Given the description of an element on the screen output the (x, y) to click on. 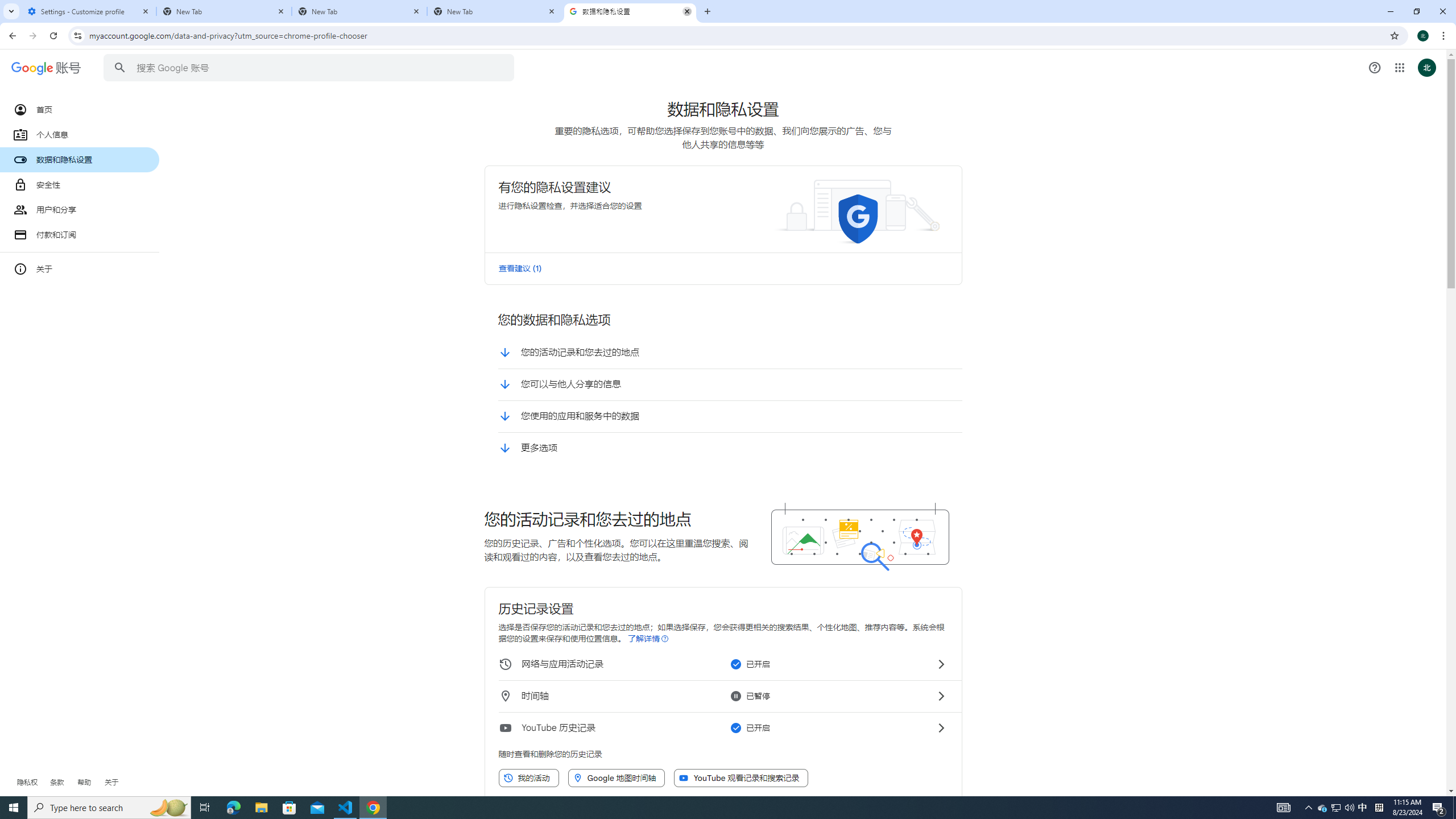
New Tab (494, 11)
New Tab (359, 11)
More actions for Web Store shortcut (814, 264)
Search Google or type a URL (727, 230)
